Given the description of an element on the screen output the (x, y) to click on. 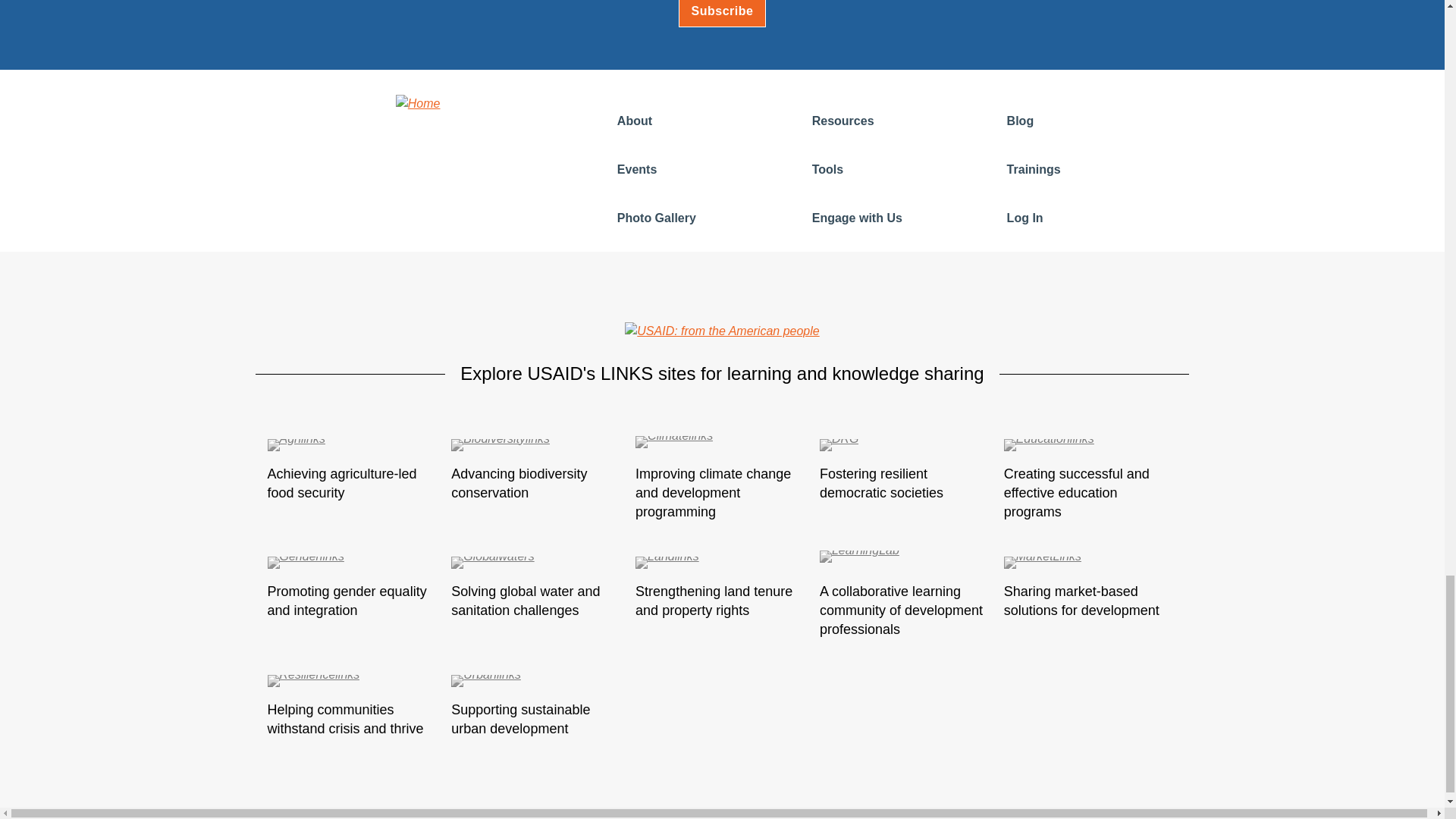
Go to USAID (721, 330)
Go to Educationlinks (1090, 447)
Go to Agrilinks (353, 447)
Go to LearningLab (905, 564)
Go to Landlinks (721, 564)
Go to DRG (905, 447)
Go to Resiliencelinks (353, 683)
Go to Urbanlinks (537, 683)
Go to MarketLinks (1090, 564)
Go to Biodiversitylinks (537, 447)
